Given the description of an element on the screen output the (x, y) to click on. 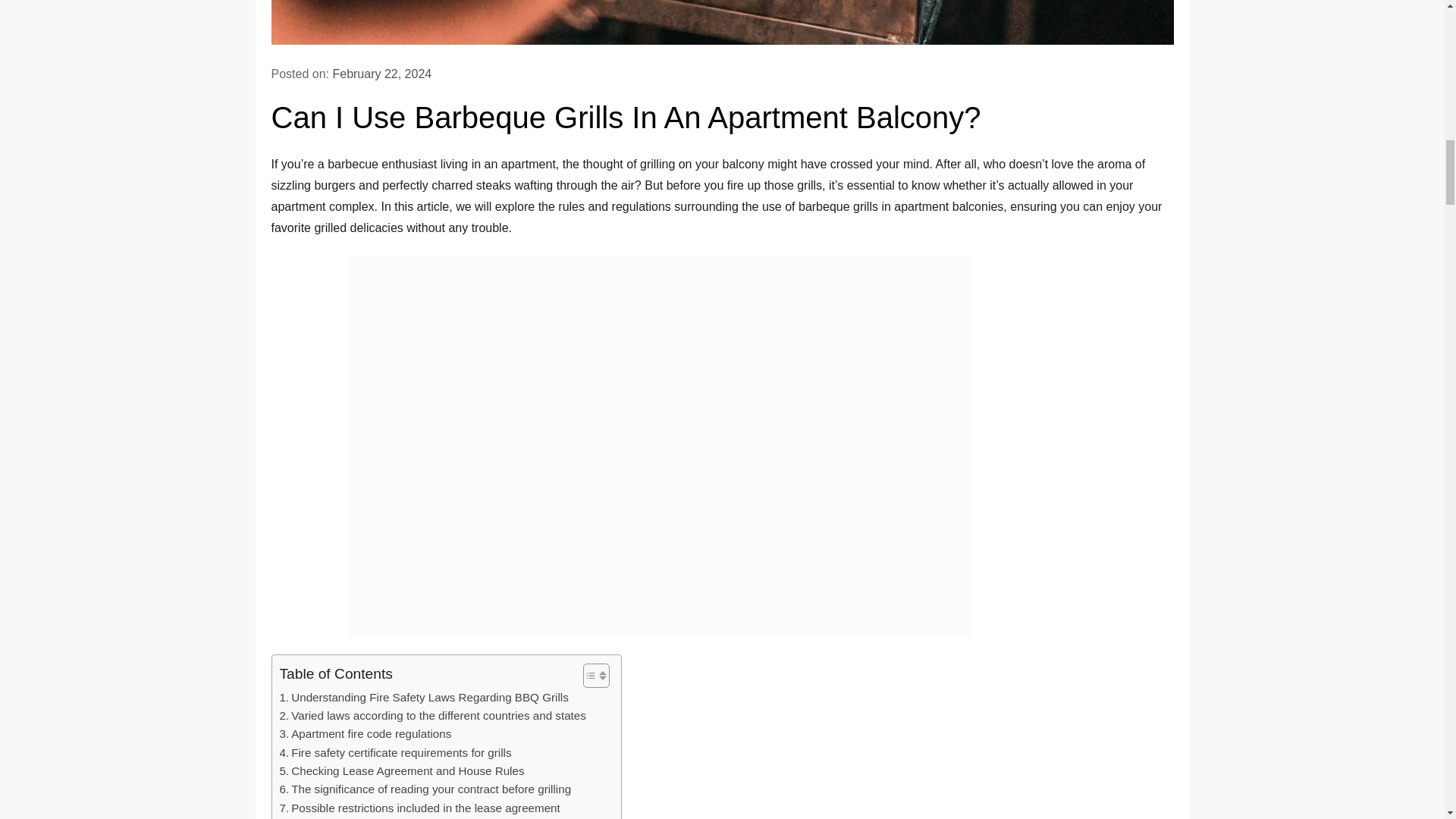
Checking Lease Agreement and House Rules (401, 771)
February 22, 2024 (380, 73)
Apartment fire code regulations (365, 733)
The significance of reading your contract before grilling (424, 789)
Fire safety certificate requirements for grills (395, 752)
Checking Lease Agreement and House Rules (401, 771)
Possible restrictions included in the lease agreement (419, 808)
Fire safety certificate requirements for grills (395, 752)
